Given the description of an element on the screen output the (x, y) to click on. 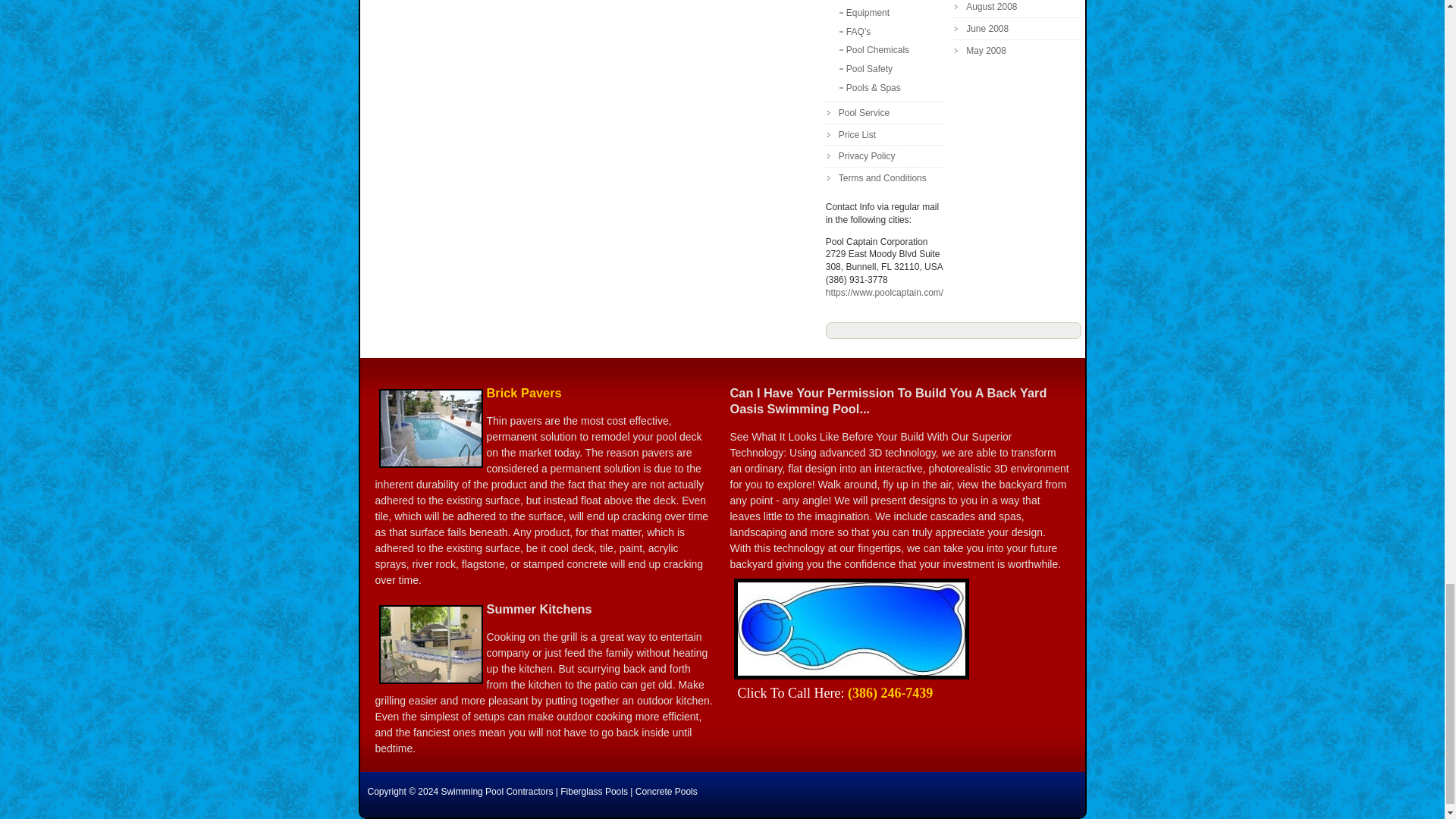
SummerKitchen (430, 644)
BrickPavers (430, 428)
Island-Bay-Swimming-Pool (851, 628)
